Given the description of an element on the screen output the (x, y) to click on. 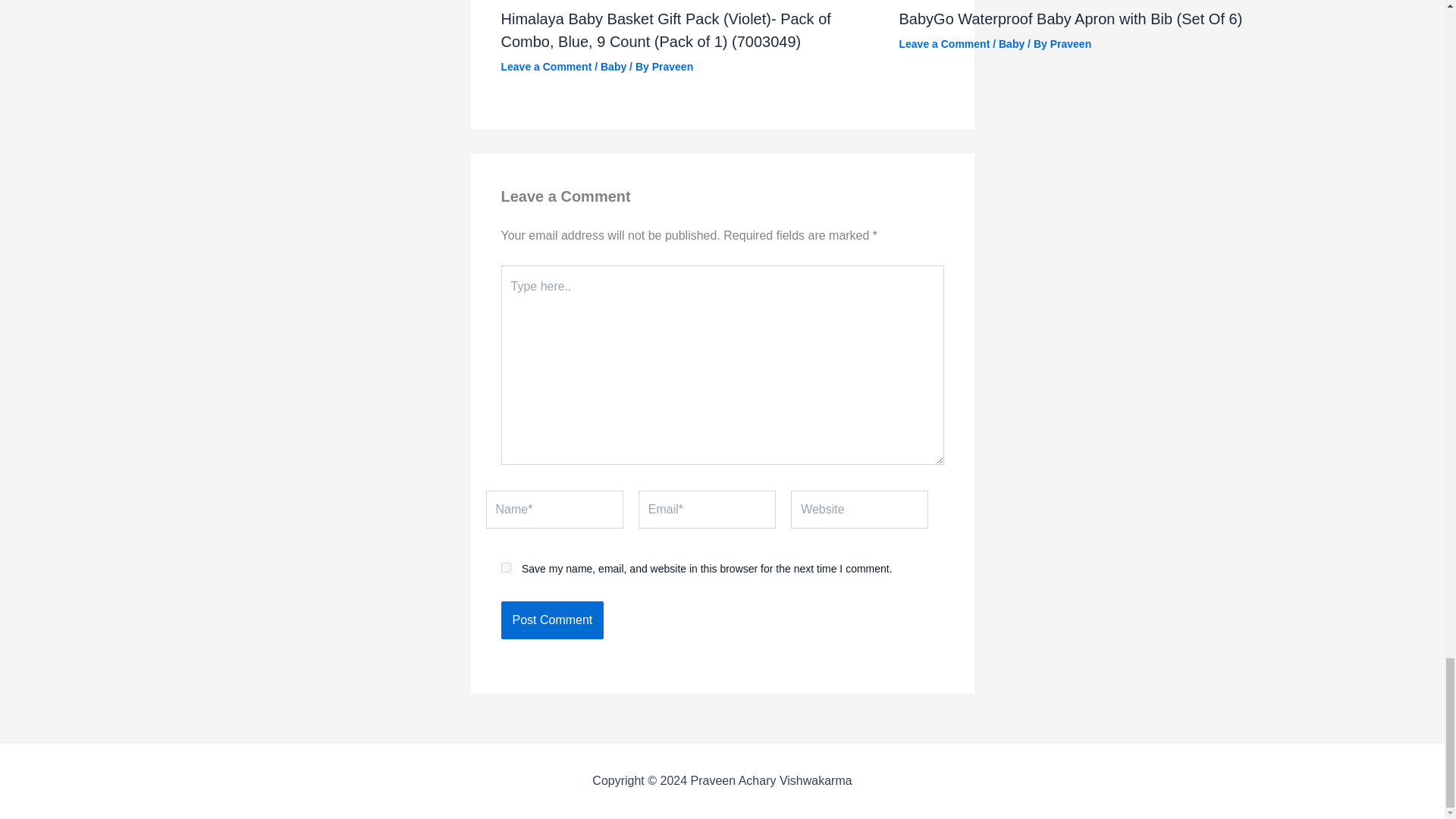
View all posts by Praveen (672, 65)
yes (505, 567)
Post Comment (552, 620)
View all posts by Praveen (1069, 42)
